Given the description of an element on the screen output the (x, y) to click on. 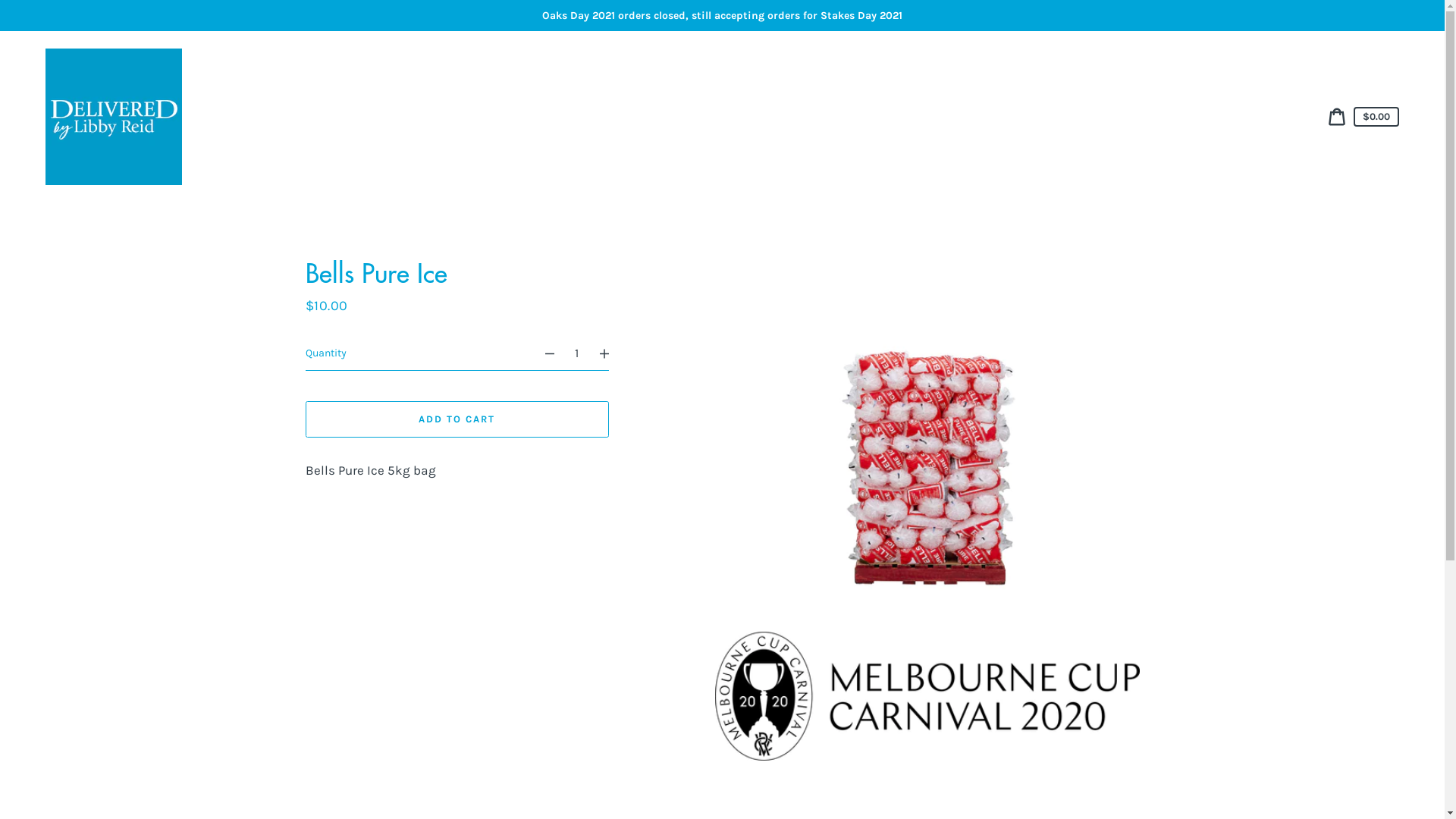
Cart Element type: text (1336, 116)
ADD TO CART Element type: text (456, 419)
